Given the description of an element on the screen output the (x, y) to click on. 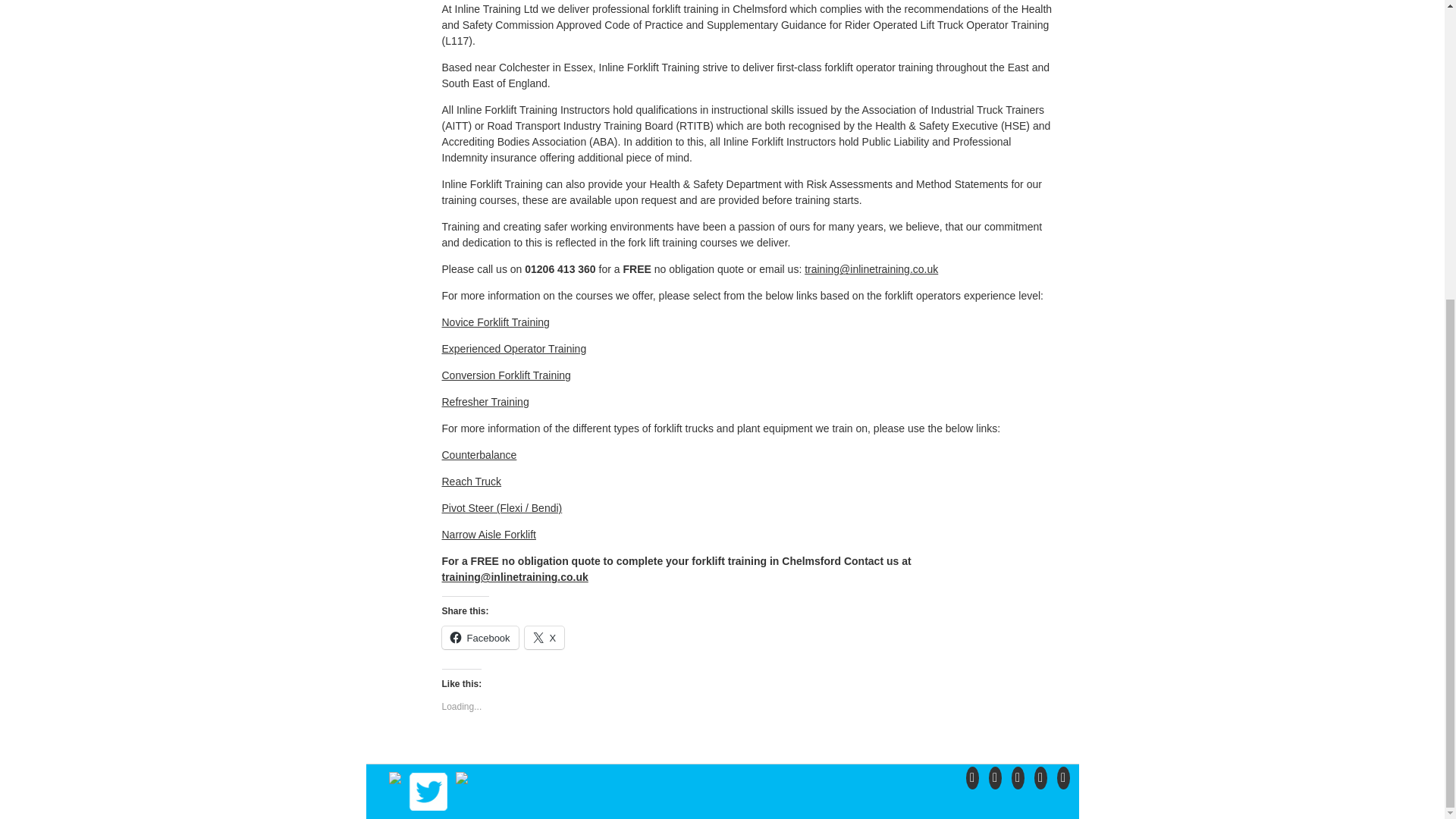
Conversion Forklift Training (505, 375)
Novice Forklift Training (494, 322)
Experienced Operator Training (513, 348)
Refresher Training (484, 401)
